Given the description of an element on the screen output the (x, y) to click on. 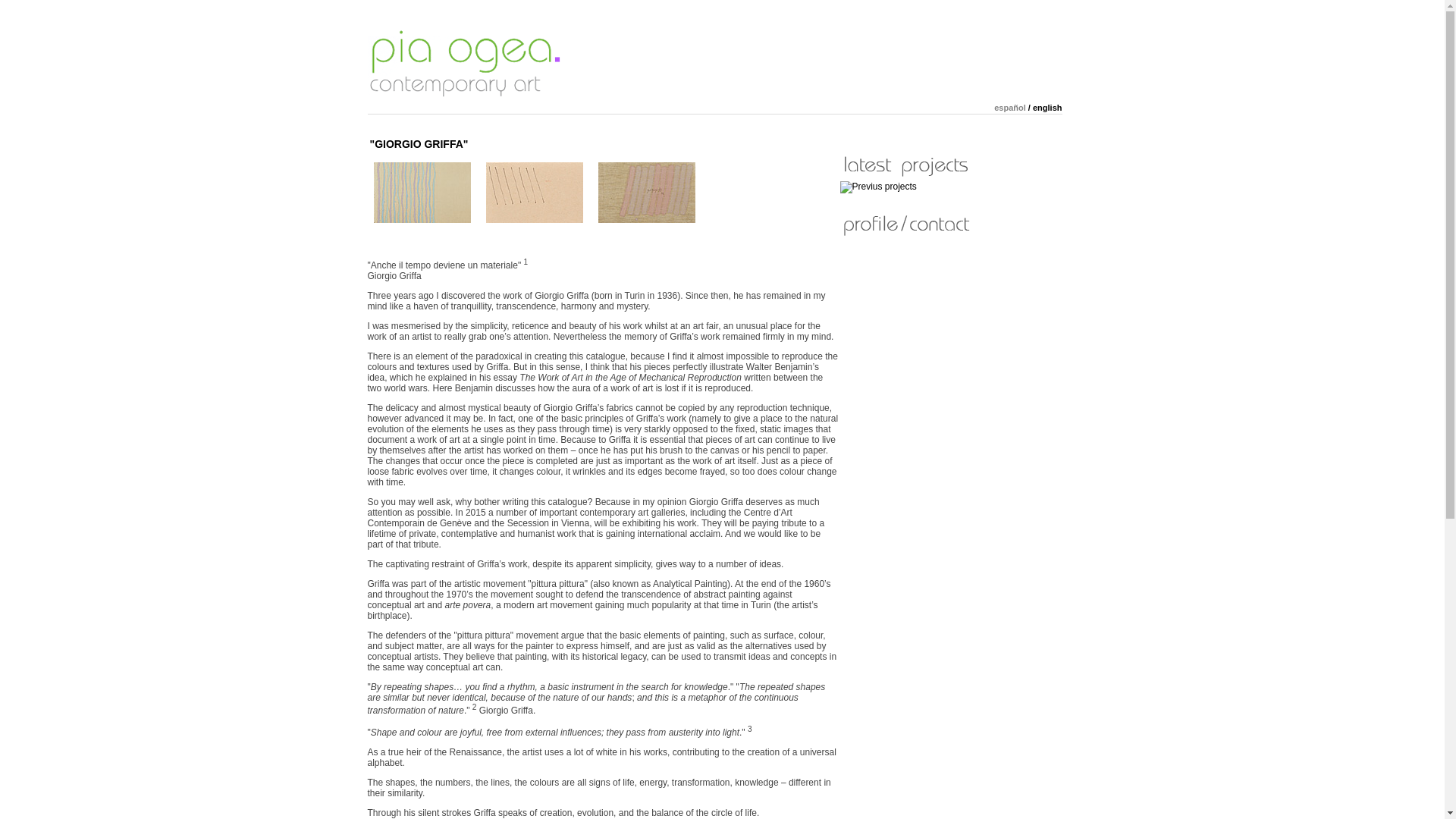
Previus projects (878, 186)
Giorgio Griffa (533, 219)
Giorgio Griffa (421, 219)
Pia Ogea. Profile (952, 224)
Giorgio Griffa (645, 219)
Latests Exhibitions (952, 165)
